Given the description of an element on the screen output the (x, y) to click on. 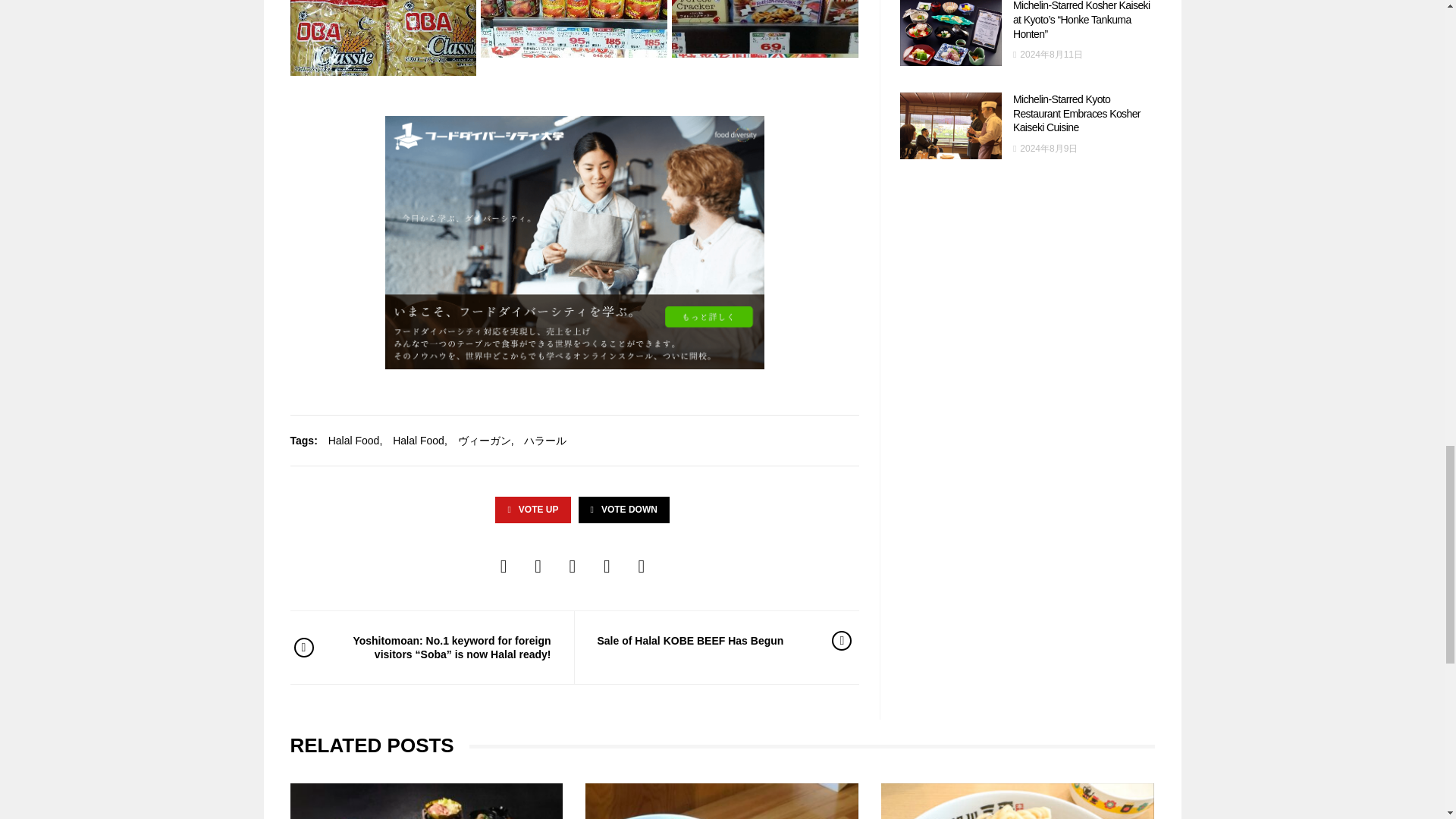
Seasoning (573, 28)
Halal Food (418, 440)
Halal Food (354, 440)
VOTE DOWN (623, 509)
Snack (765, 28)
VOTE UP (532, 509)
OBA Classic (382, 38)
